Given the description of an element on the screen output the (x, y) to click on. 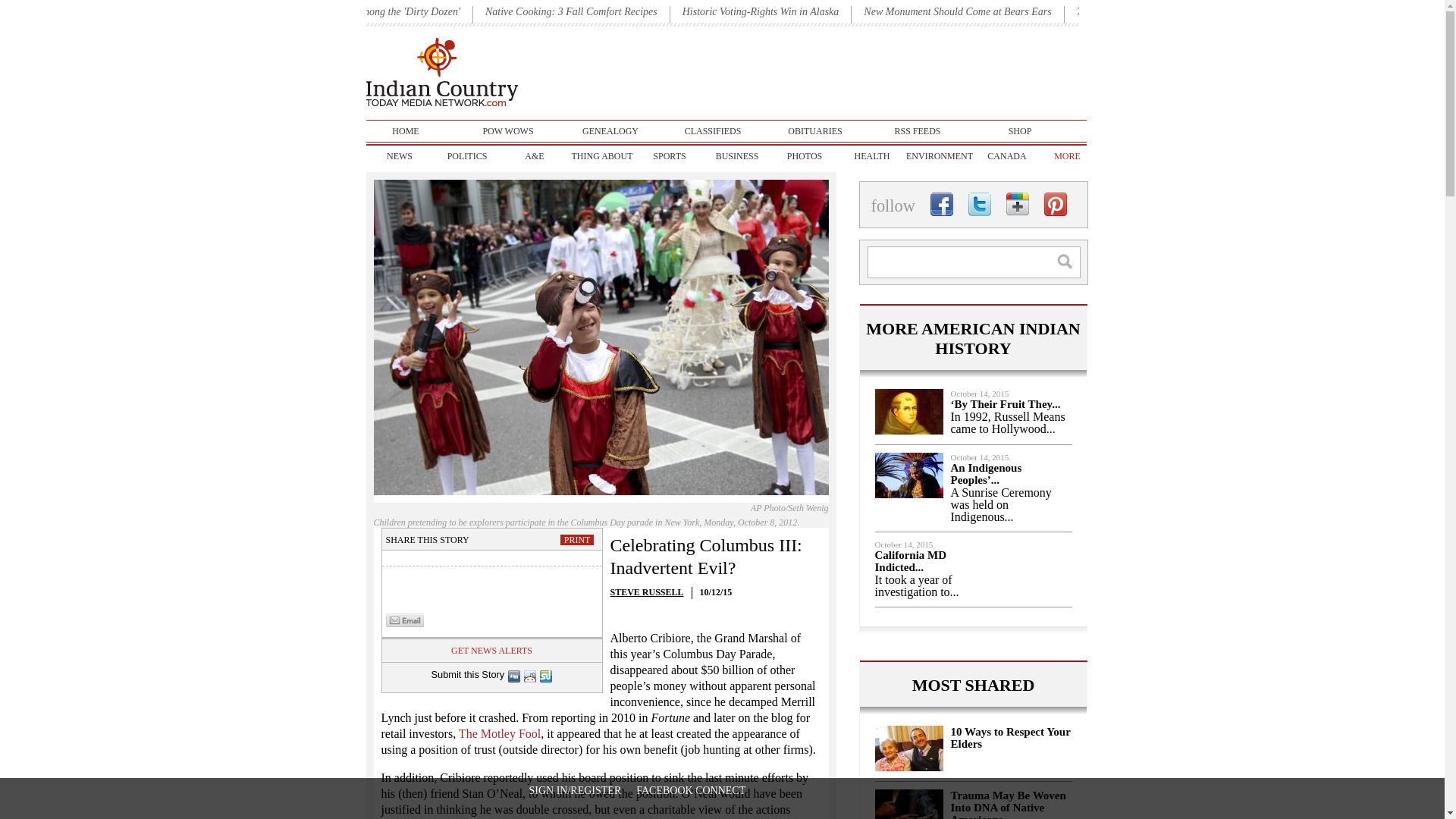
HEALTH (871, 156)
POW WOWS (508, 130)
CANADA (1007, 156)
Junipero Serra: Among the 'Dirty Dozen' (372, 11)
CLASSIFIEDS (712, 130)
POLITICS (466, 156)
New Monument Should Come at Bears Ears (957, 11)
EDUCATION (1074, 156)
PHOTOS (804, 156)
THING ABOUT SKINS (602, 156)
HOME (405, 130)
Historic Voting-Rights Win in Alaska (761, 11)
SPORTS (668, 156)
